Given the description of an element on the screen output the (x, y) to click on. 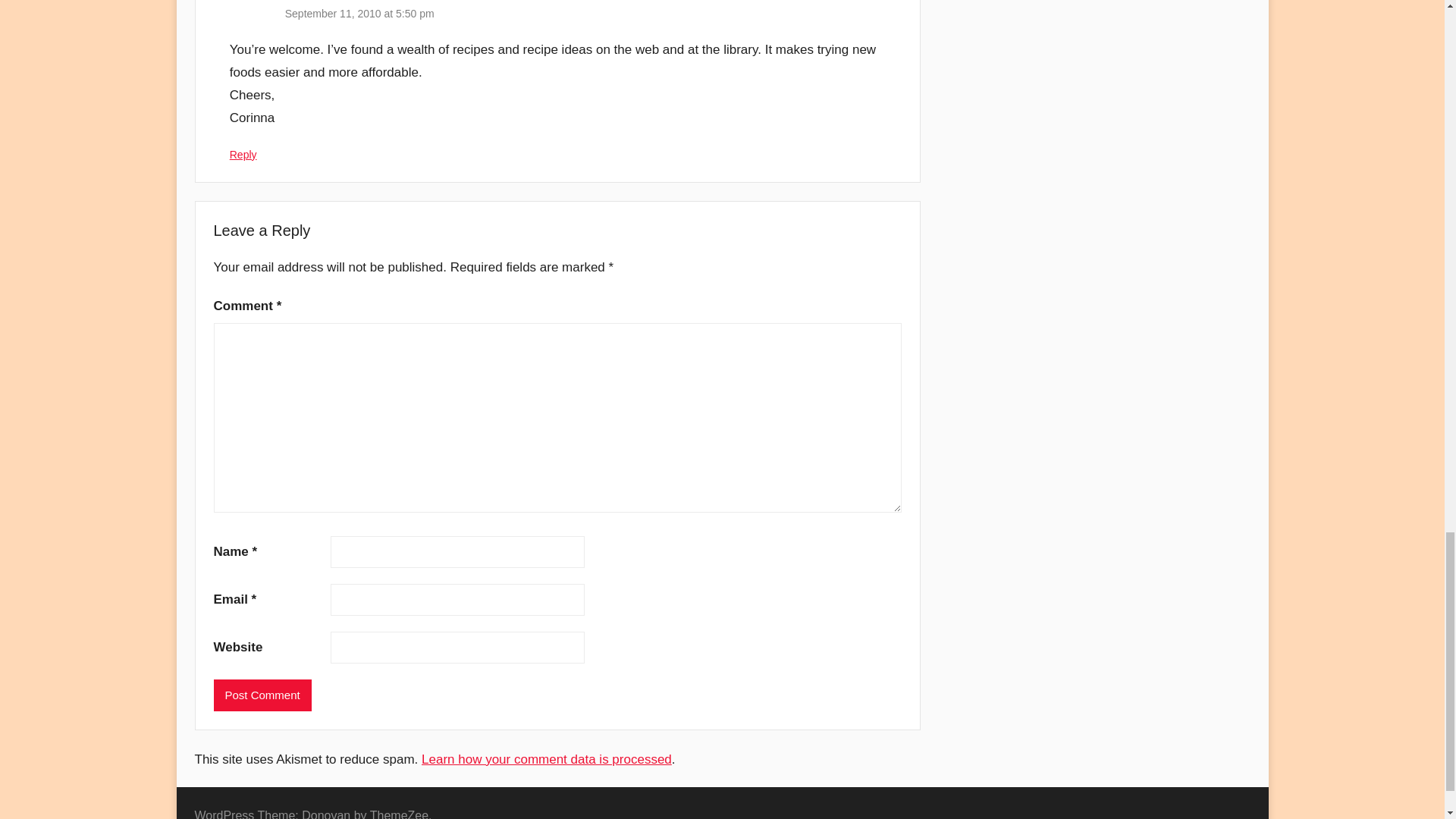
Learn how your comment data is processed (546, 759)
Reply (243, 154)
Post Comment (262, 694)
Post Comment (262, 694)
September 11, 2010 at 5:50 pm (359, 13)
